Given the description of an element on the screen output the (x, y) to click on. 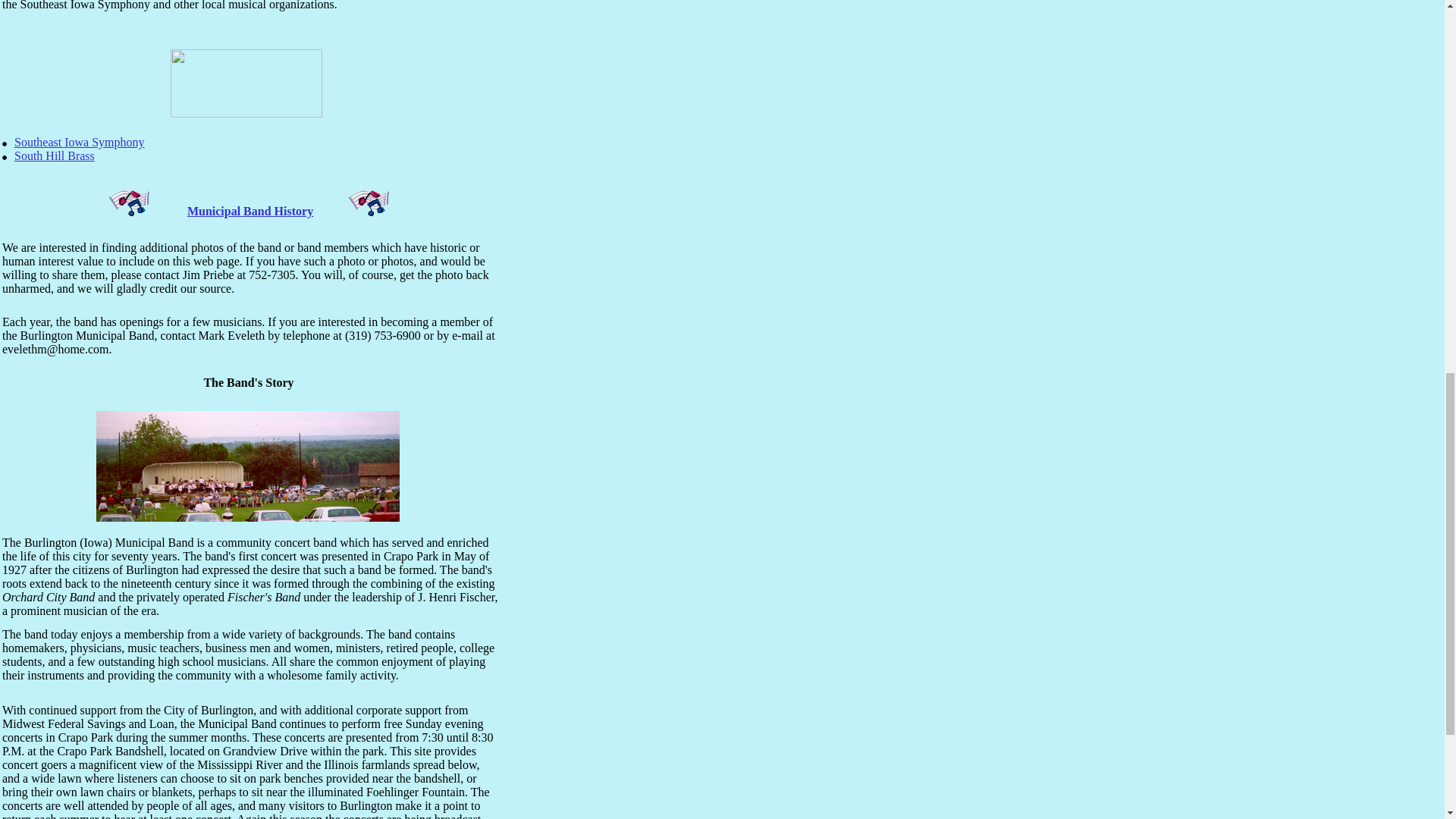
Southeast Iowa Symphony (79, 141)
South Hill Brass (54, 155)
Municipal Band History (250, 210)
